Given the description of an element on the screen output the (x, y) to click on. 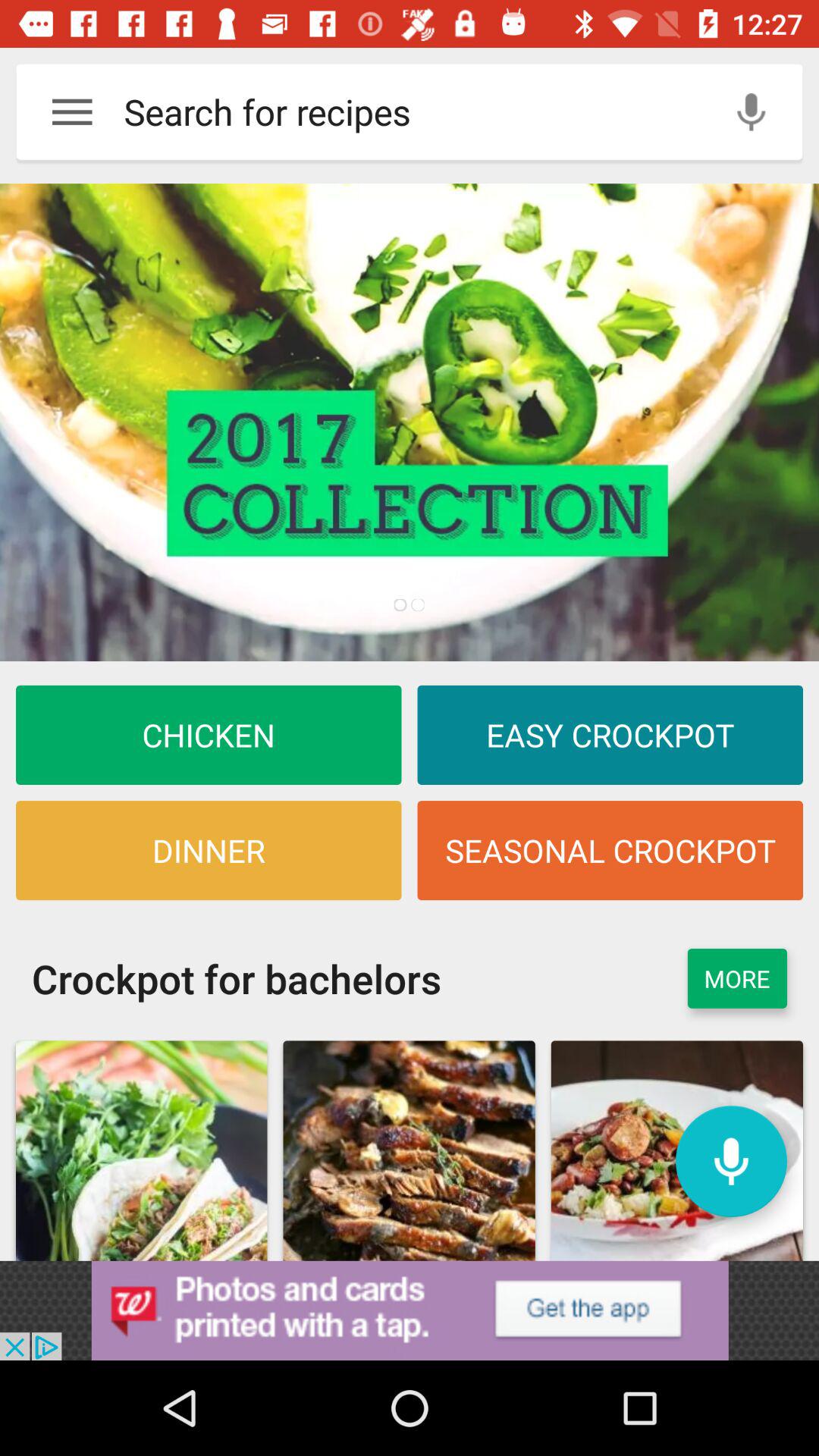
2017 collection (409, 422)
